Given the description of an element on the screen output the (x, y) to click on. 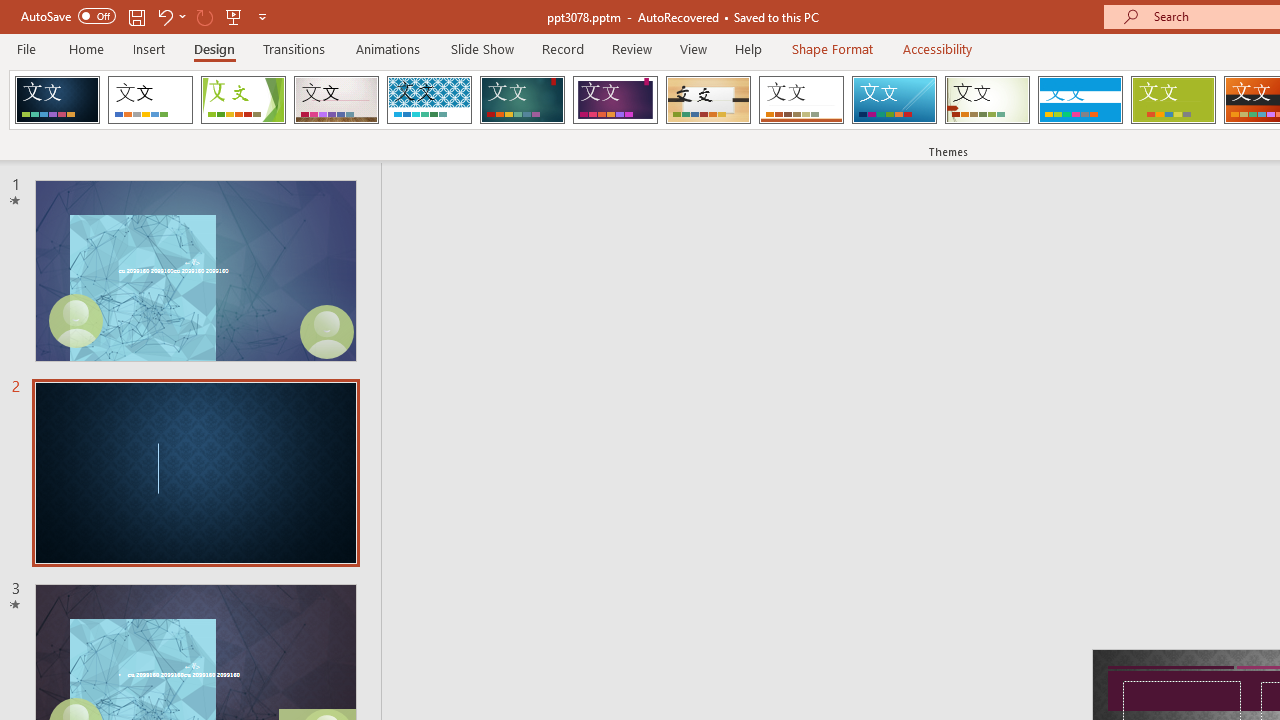
Ion (522, 100)
Help (748, 48)
From Beginning (234, 15)
File Tab (26, 48)
Design (214, 48)
Facet (243, 100)
Basis (1172, 100)
Ion Boardroom (615, 100)
Quick Access Toolbar (145, 16)
View (693, 48)
Insert (149, 48)
Animations (388, 48)
